Given the description of an element on the screen output the (x, y) to click on. 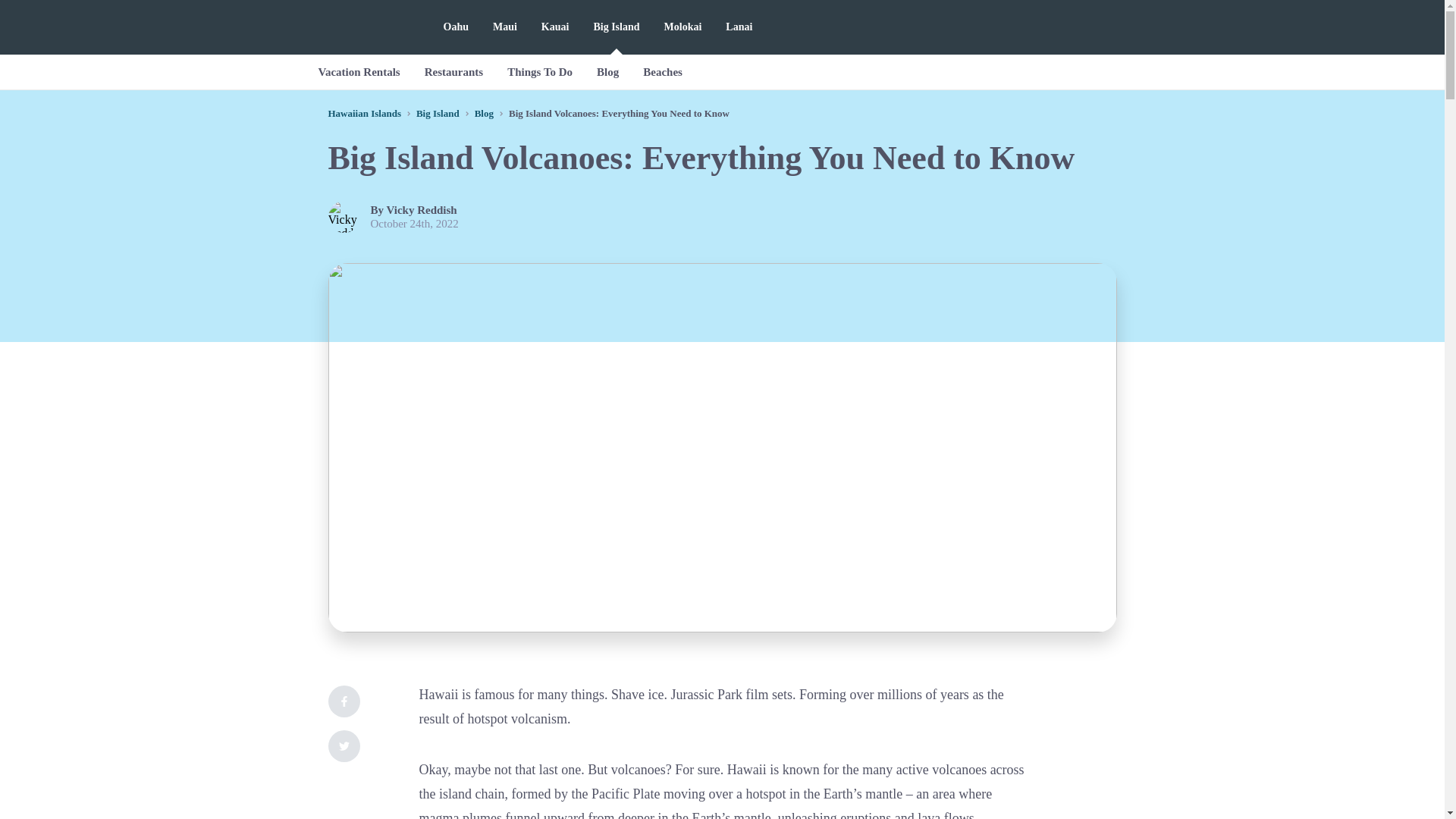
Big Island (438, 112)
Vicky Reddish (422, 209)
Restaurants (454, 71)
Vacation Rentals (358, 71)
Hawaiian Islands (363, 112)
Blog (483, 112)
Beaches (662, 71)
Blog (607, 71)
Things To Do (540, 71)
